Given the description of an element on the screen output the (x, y) to click on. 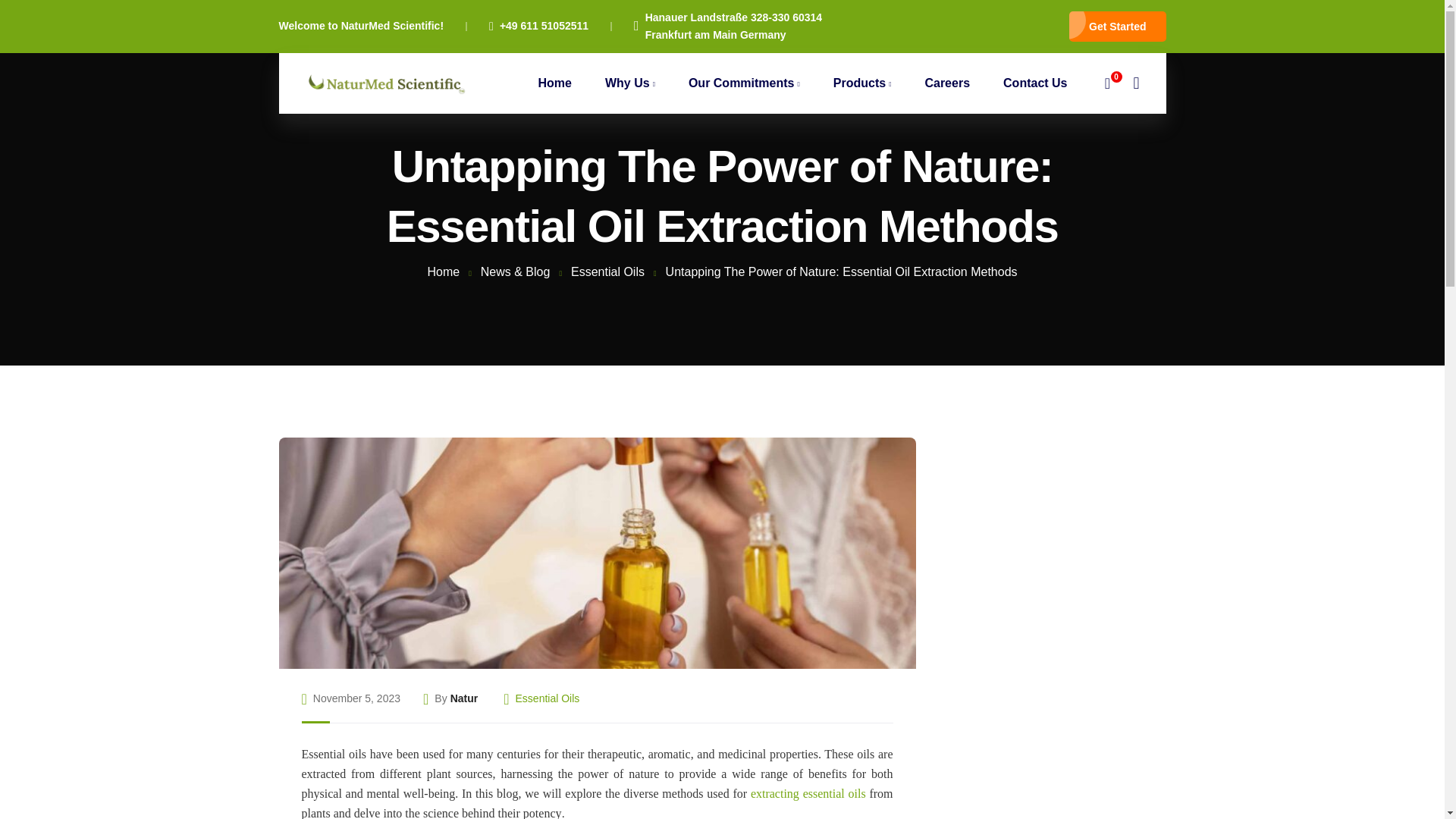
Our Commitments (743, 83)
Home (554, 83)
Why Us (629, 83)
Posts by natur (464, 698)
Products (862, 83)
Get Started (1117, 26)
Naturmed Scientific (384, 82)
